Given the description of an element on the screen output the (x, y) to click on. 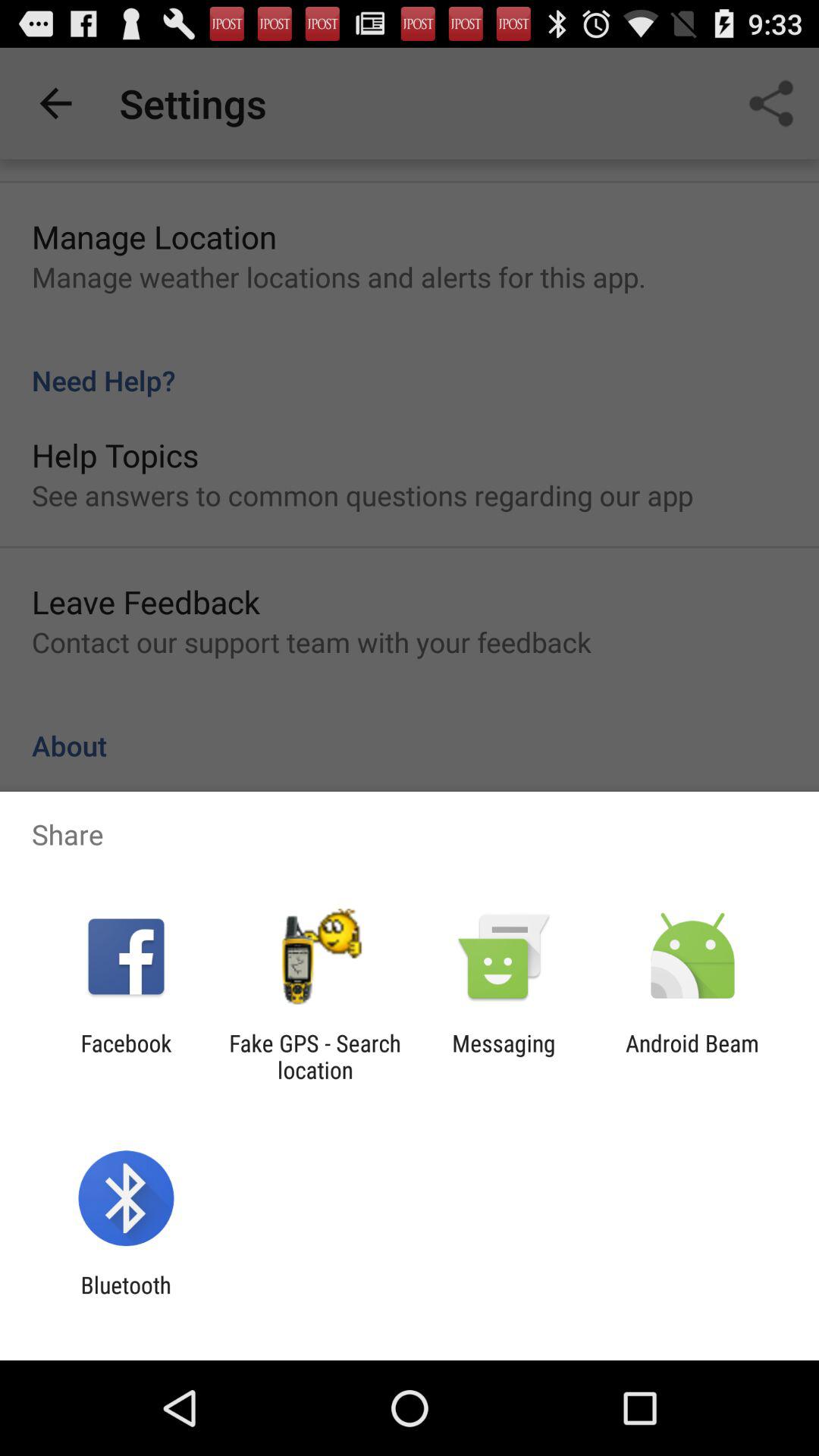
tap the messaging app (503, 1056)
